Given the description of an element on the screen output the (x, y) to click on. 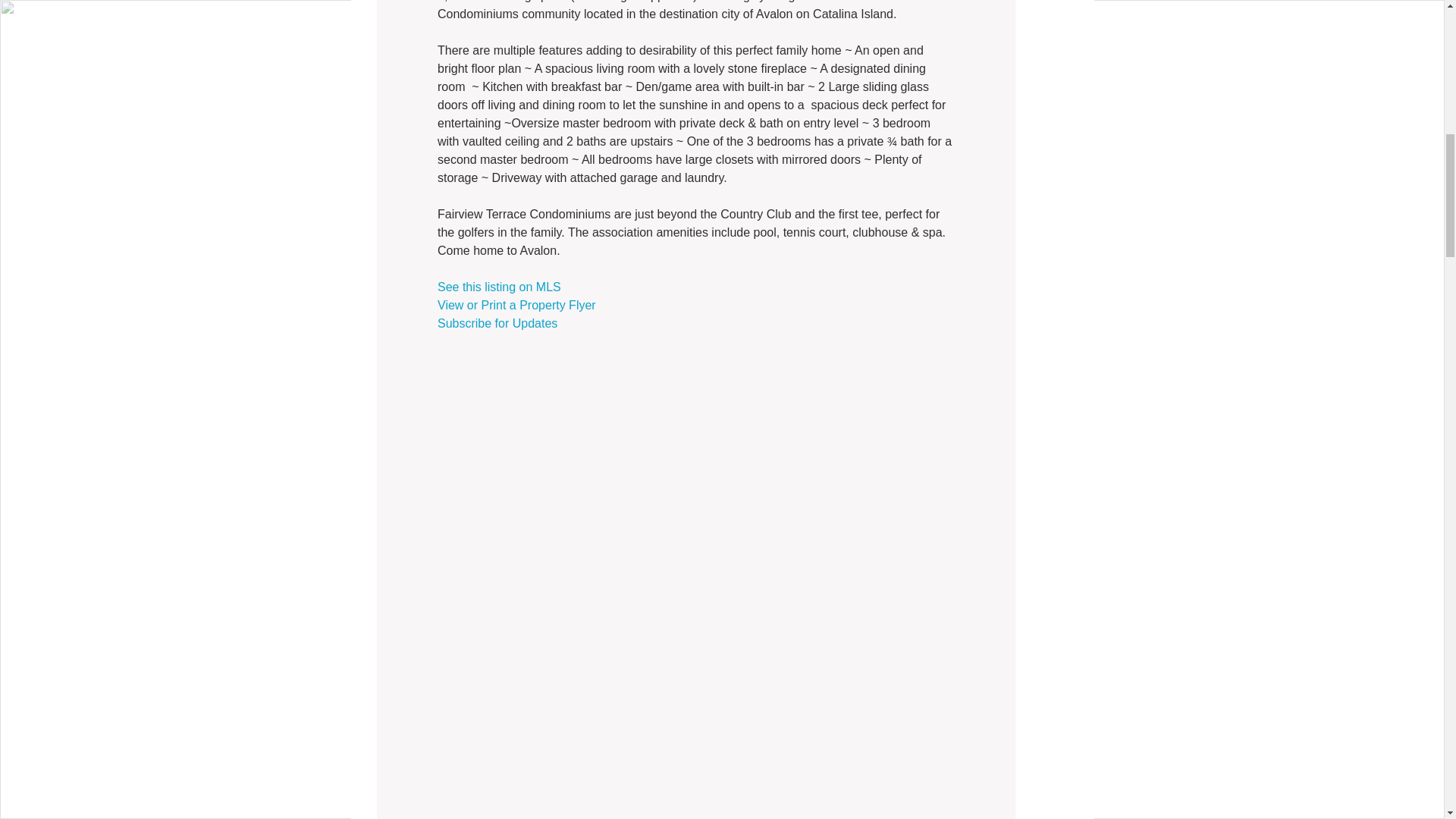
Subscribe for Updates (496, 323)
See this listing on MLS (498, 286)
View or Print a Property Flyer (515, 305)
